Given the description of an element on the screen output the (x, y) to click on. 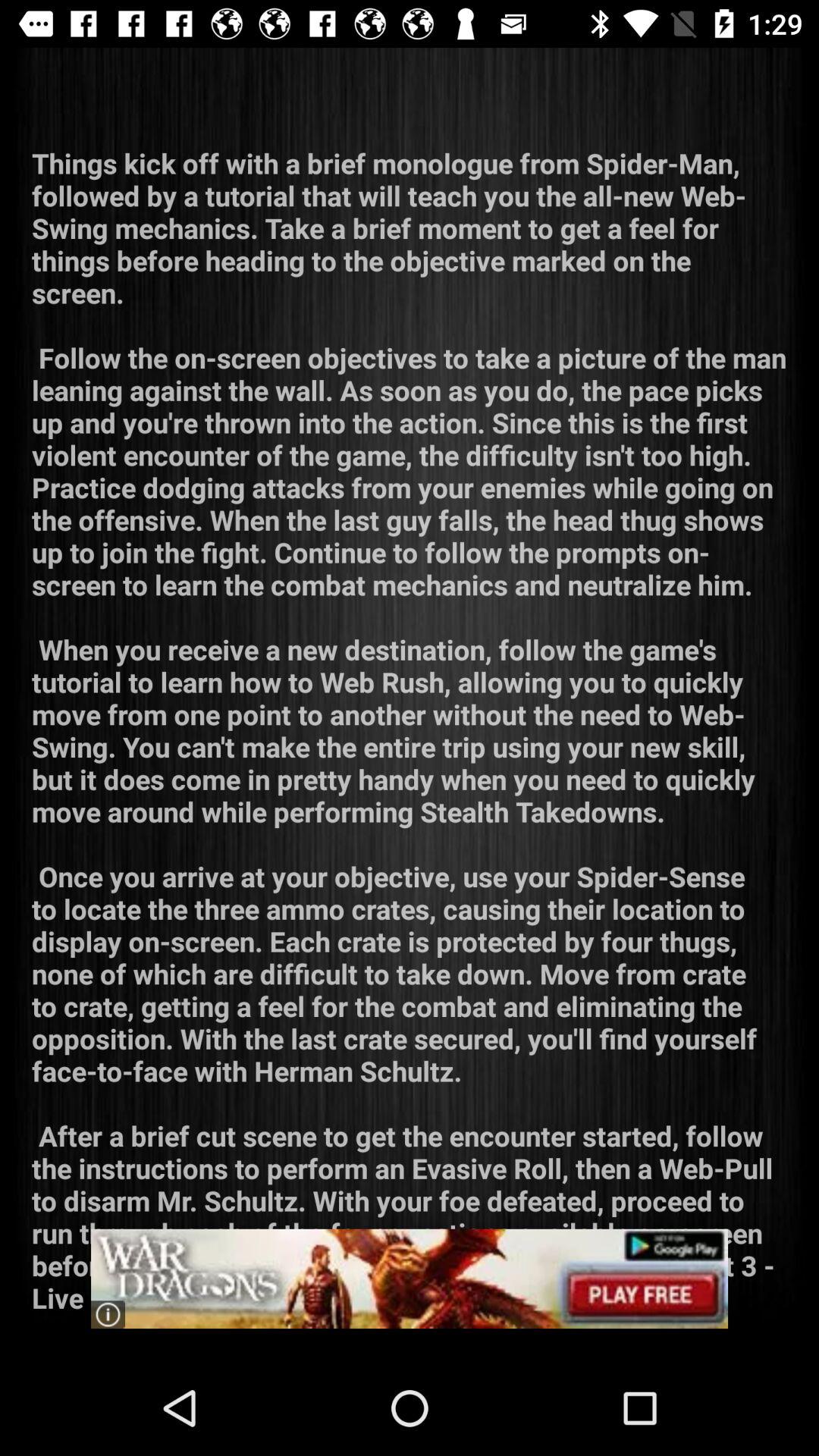
open advertisement (409, 1278)
